Given the description of an element on the screen output the (x, y) to click on. 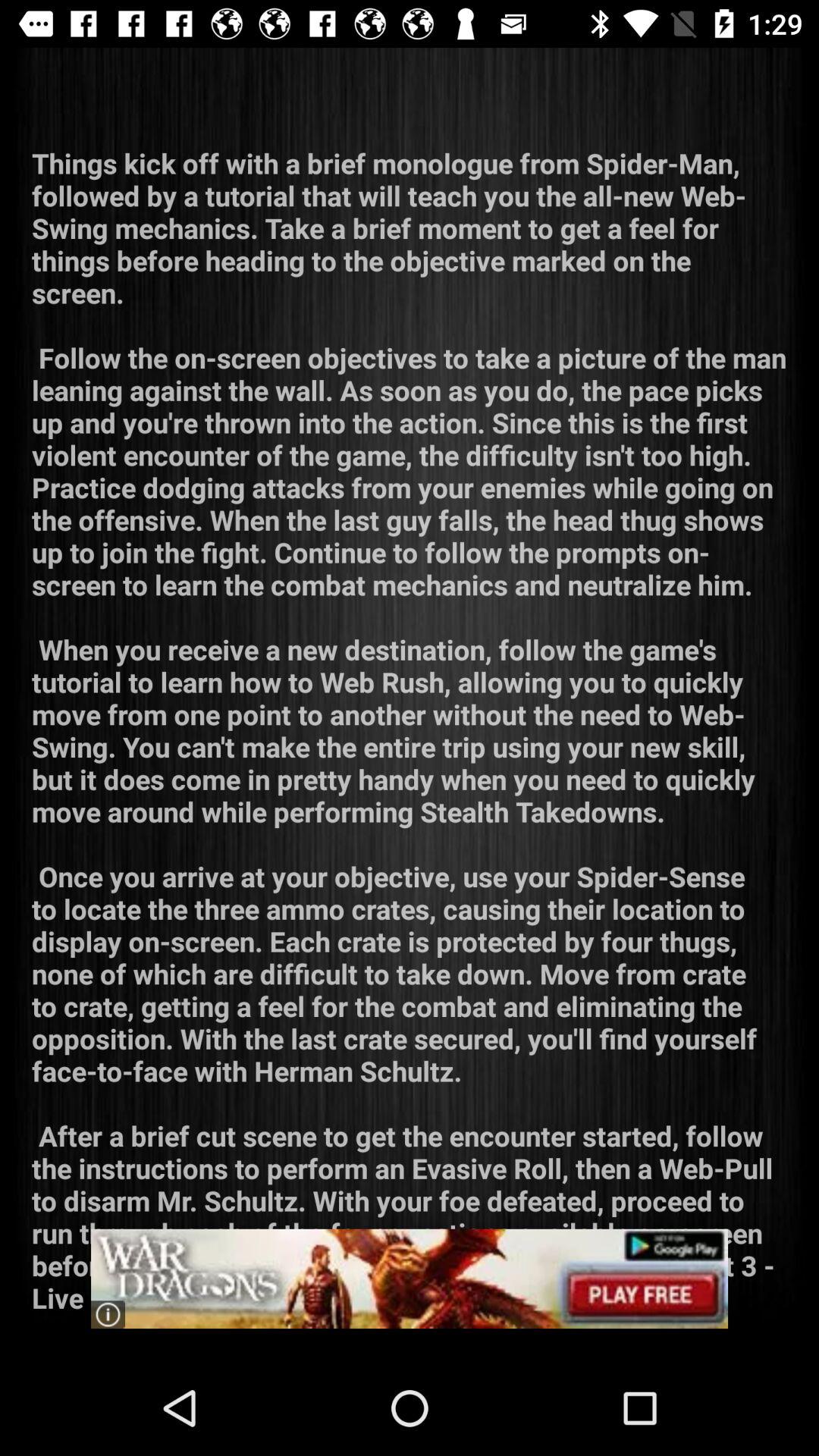
open advertisement (409, 1278)
